Given the description of an element on the screen output the (x, y) to click on. 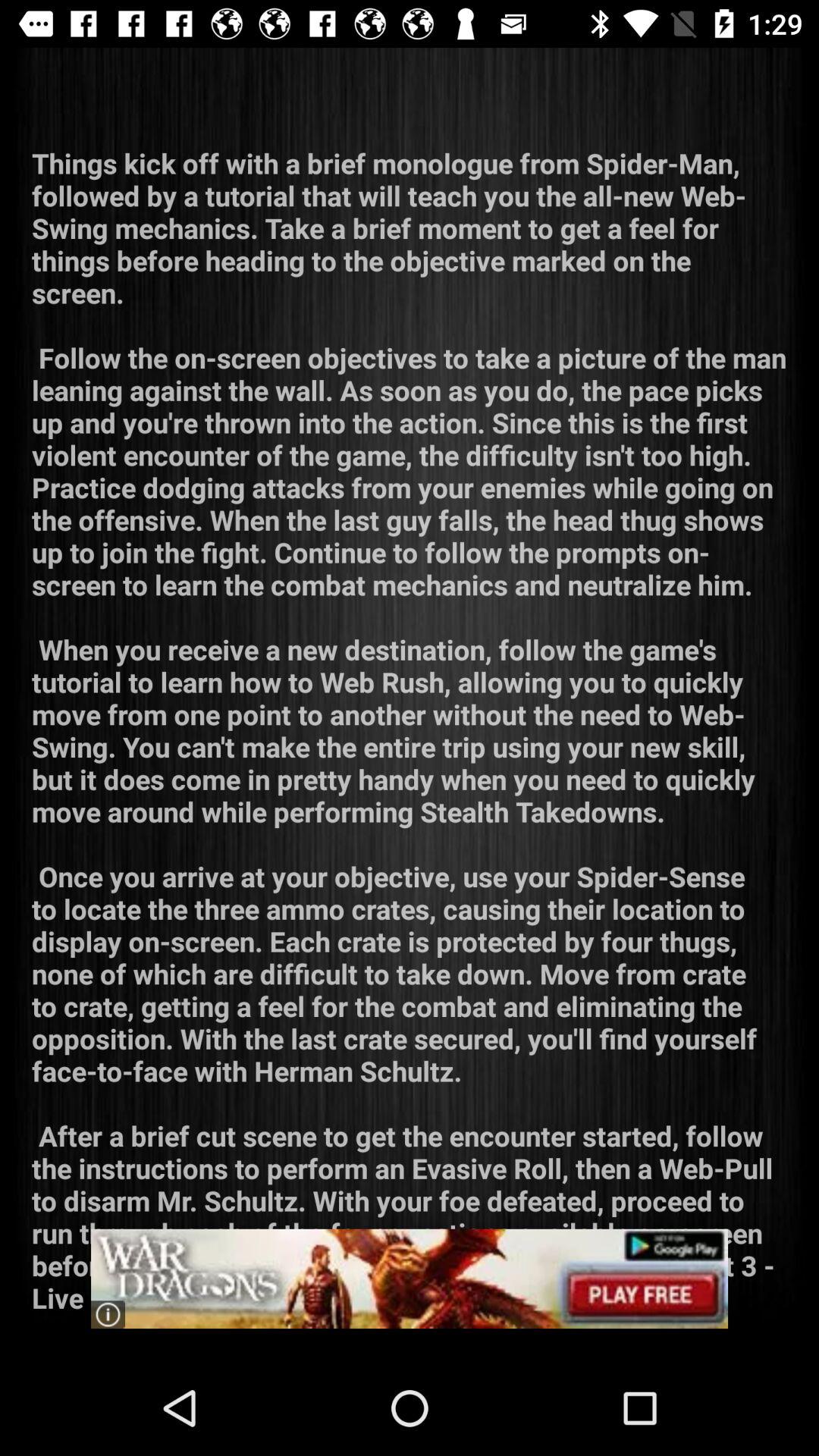
open advertisement (409, 1278)
